Given the description of an element on the screen output the (x, y) to click on. 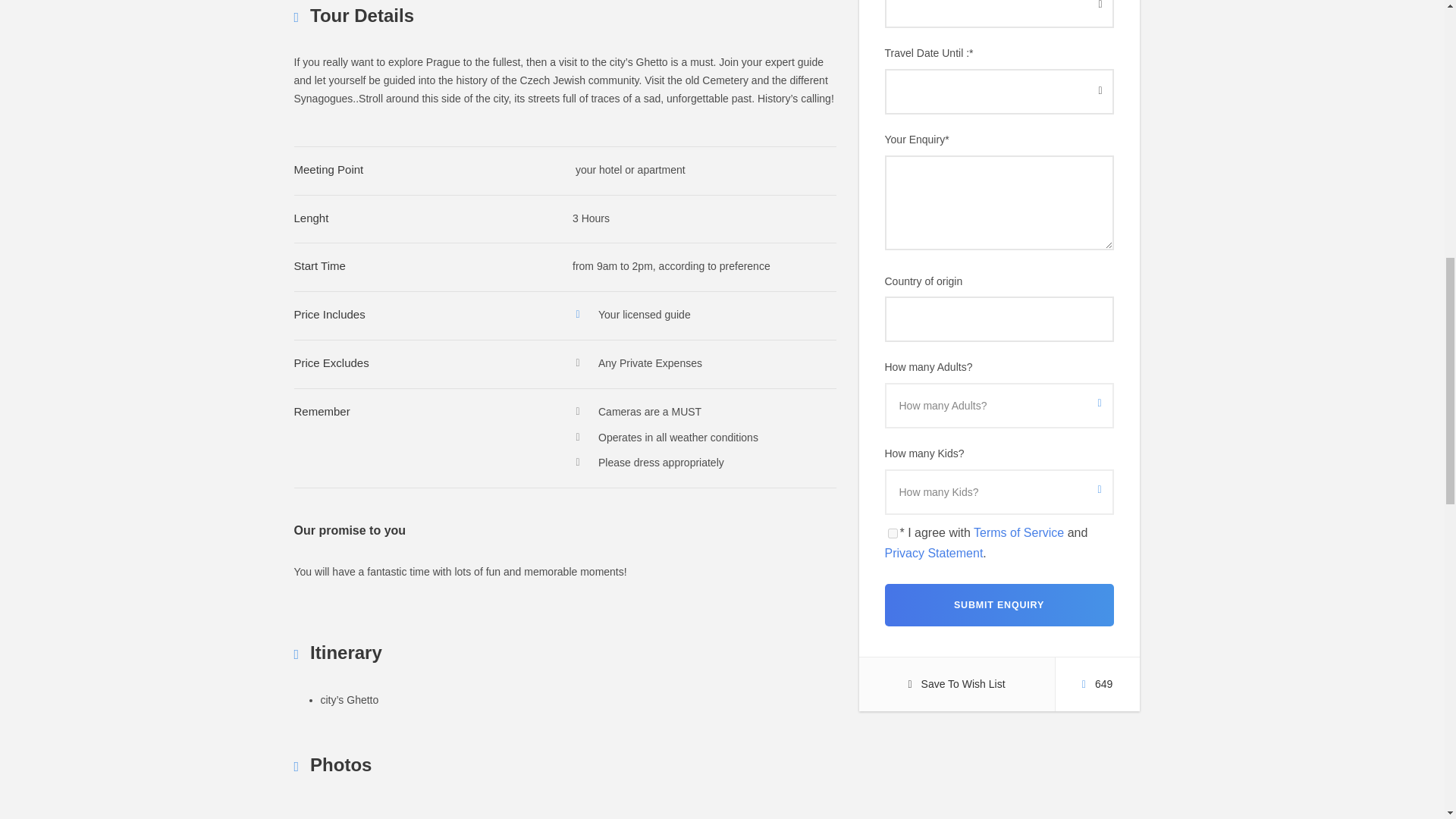
Submit Enquiry (998, 604)
Page 15 (564, 80)
on (891, 533)
